Given the description of an element on the screen output the (x, y) to click on. 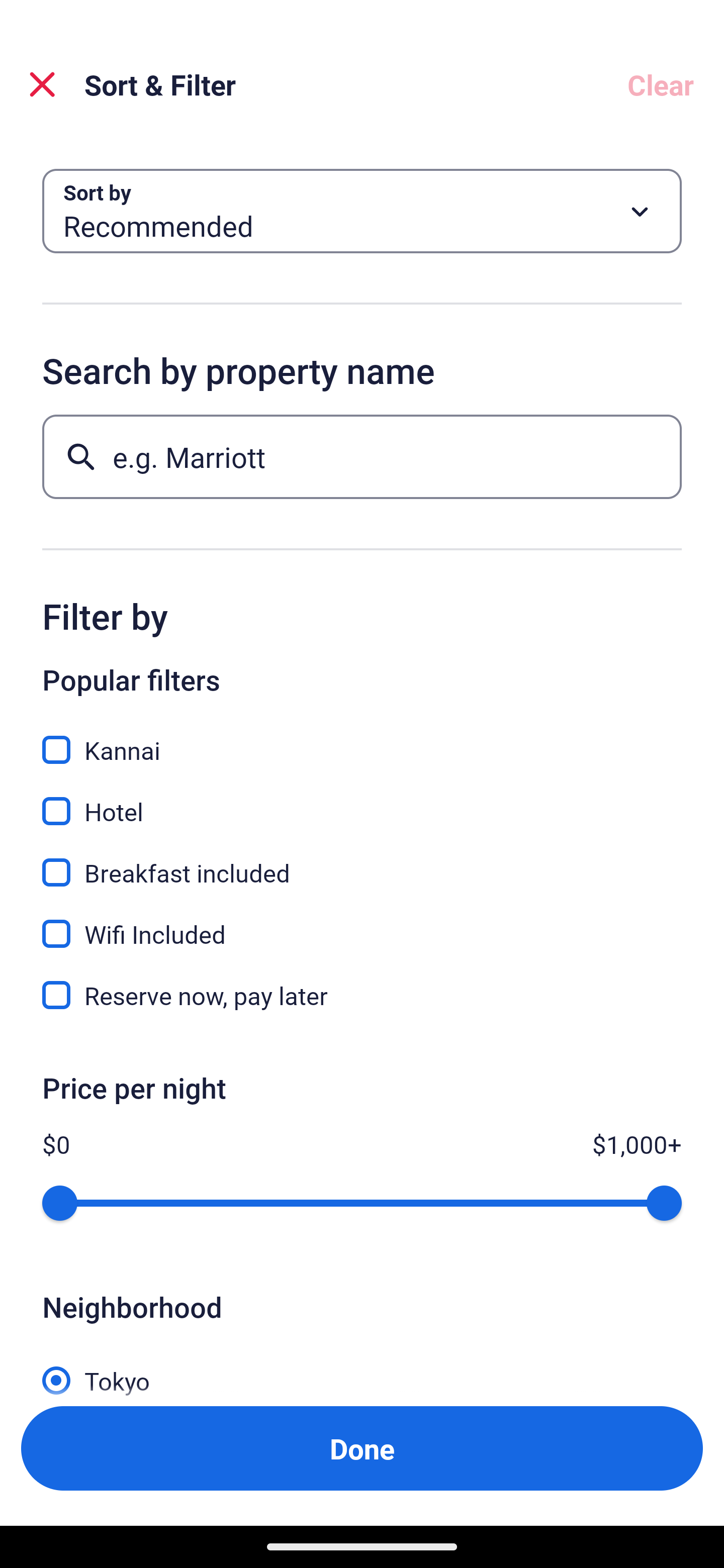
Close Sort and Filter (42, 84)
Clear (660, 84)
Sort by Button Recommended (361, 211)
e.g. Marriott Button (361, 455)
Kannai, Kannai (361, 738)
Hotel, Hotel (361, 800)
Breakfast included, Breakfast included (361, 861)
Wifi Included, Wifi Included (361, 922)
Reserve now, pay later, Reserve now, pay later (361, 995)
Apply and close Sort and Filter Done (361, 1448)
